Given the description of an element on the screen output the (x, y) to click on. 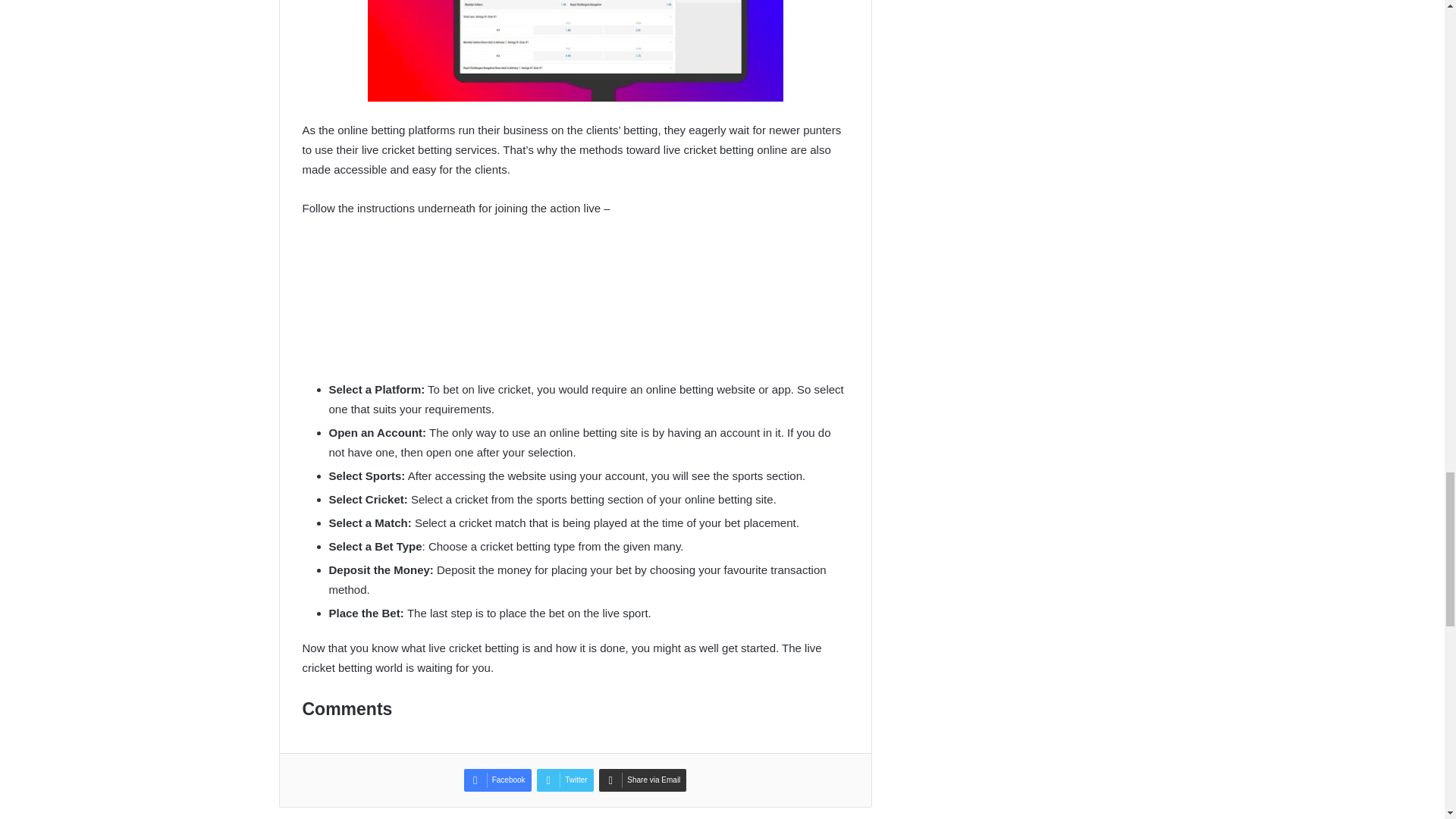
Facebook (497, 780)
Share via Email (641, 780)
Facebook (497, 780)
Twitter (564, 780)
Share via Email (641, 780)
Twitter (564, 780)
